Given the description of an element on the screen output the (x, y) to click on. 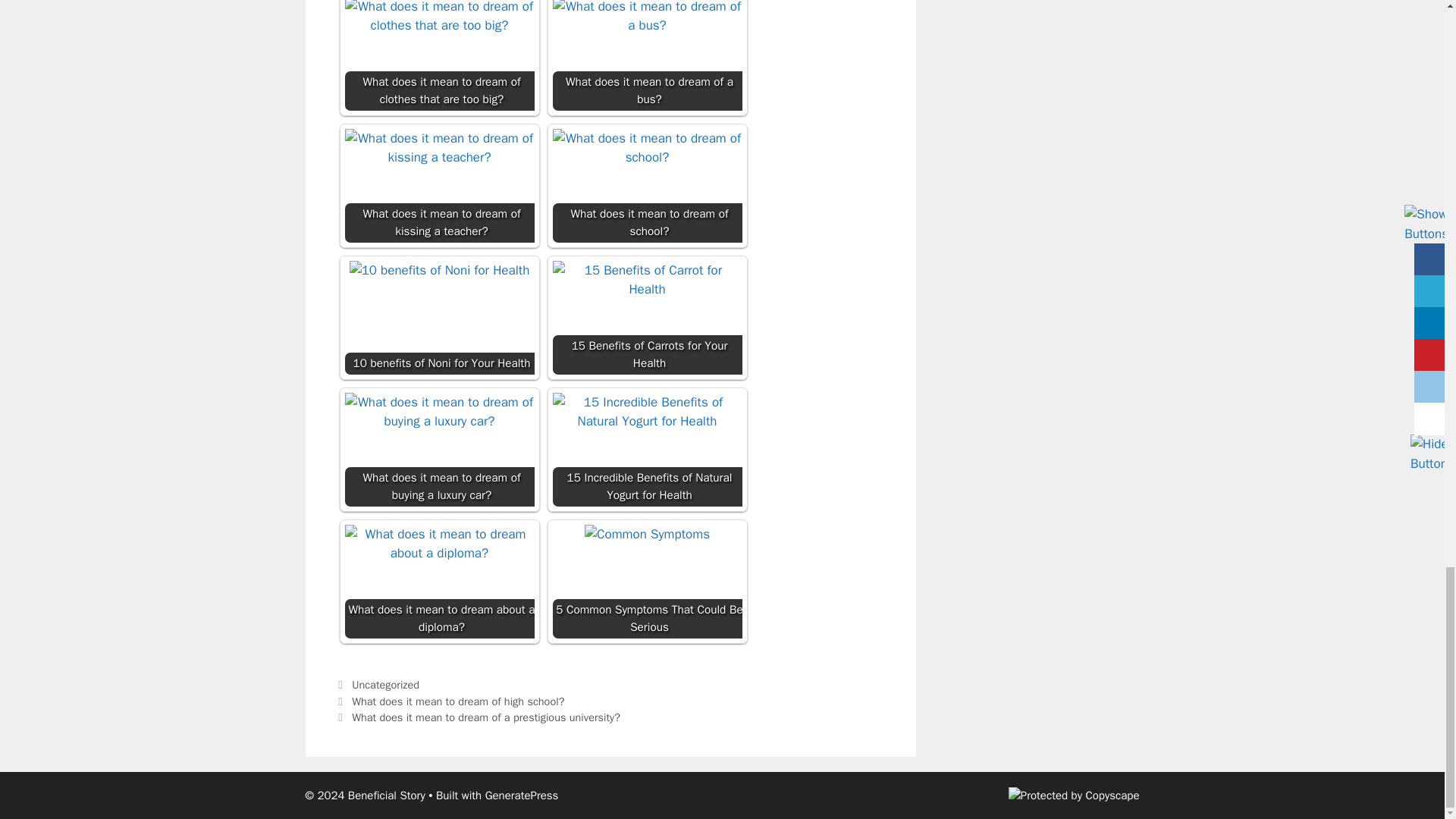
15 Incredible Benefits of Natural Yogurt for Health (646, 449)
What does it mean to dream of buying a luxury car? (438, 449)
What does it mean to dream of kissing a teacher? (438, 185)
15 Benefits of Carrots for Your Health (646, 317)
What does it mean to dream of school? (646, 185)
What does it mean to dream of clothes that are too big? (438, 55)
10 benefits of Noni for Your Health (438, 317)
What does it mean to dream of a bus? (646, 55)
